Given the description of an element on the screen output the (x, y) to click on. 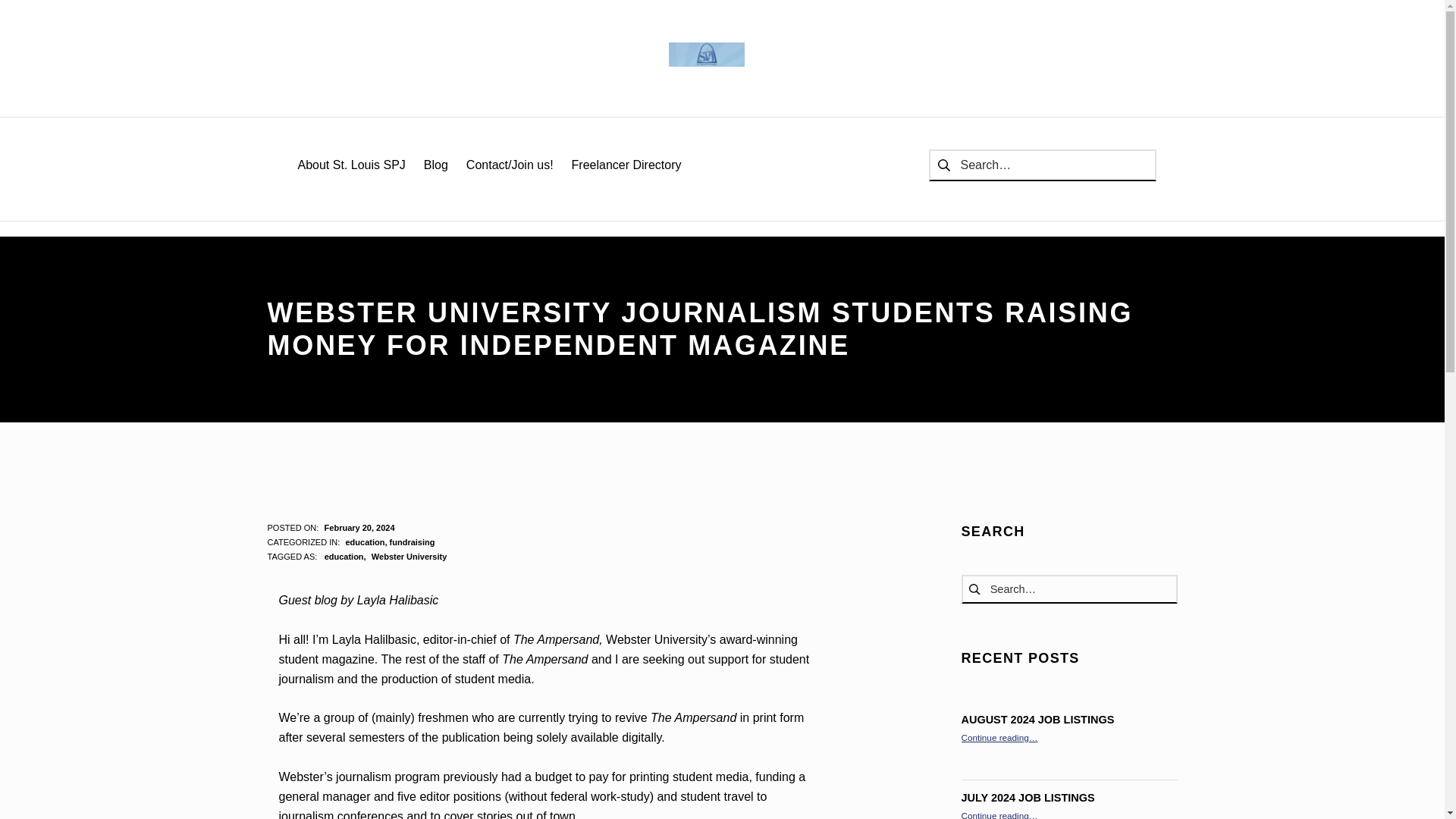
fundraising (412, 542)
AUGUST 2024 JOB LISTINGS (1037, 719)
Webster University (408, 556)
Freelancer Directory (626, 165)
Search (16, 14)
education (345, 556)
ST. LOUIS SOCIETY OF PROFESSIONAL JOURNALISTS (706, 54)
education (364, 542)
Posted on: February 20, 2024 (359, 527)
February 20, 2024 (359, 527)
